Given the description of an element on the screen output the (x, y) to click on. 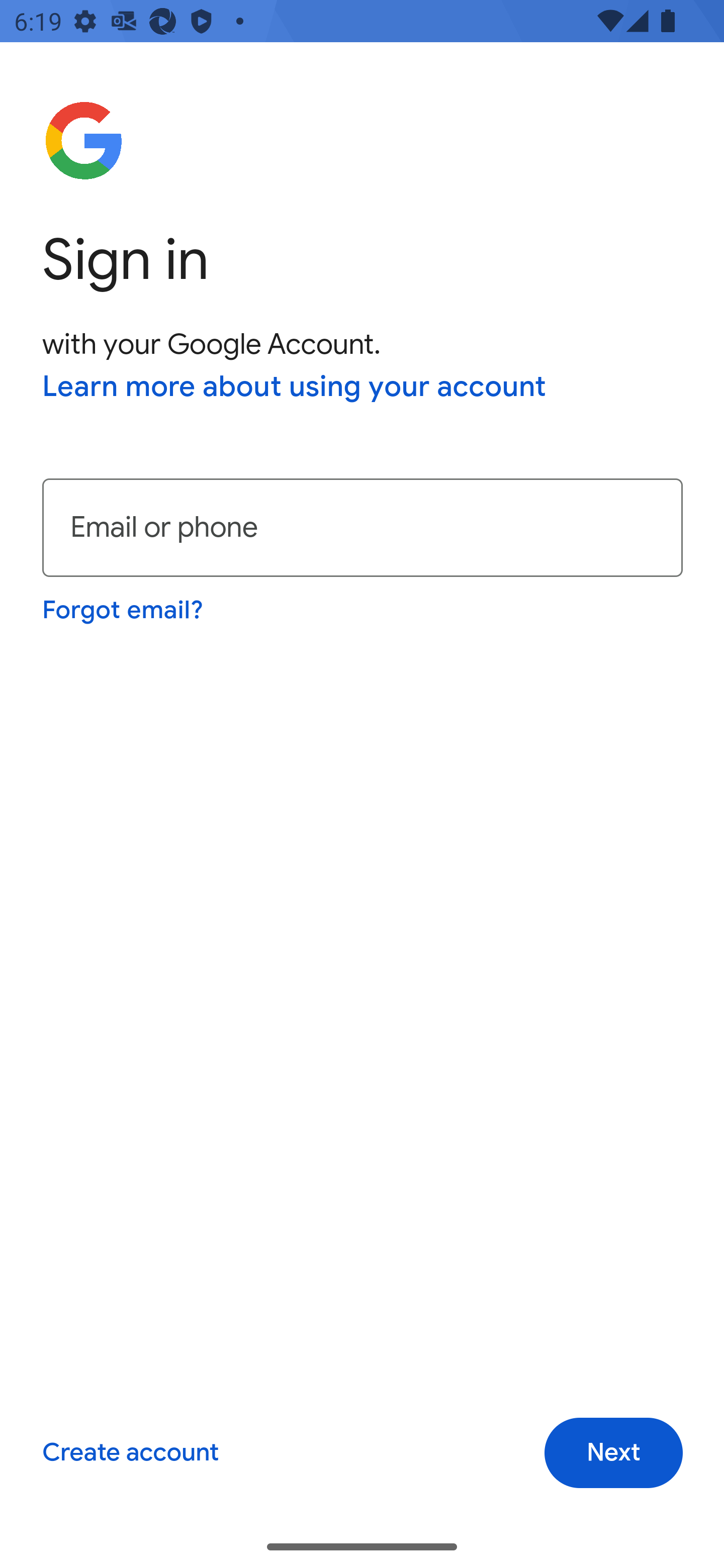
Learn more about using your account (294, 388)
Forgot email? (123, 609)
Create account (129, 1453)
Next (613, 1453)
